Given the description of an element on the screen output the (x, y) to click on. 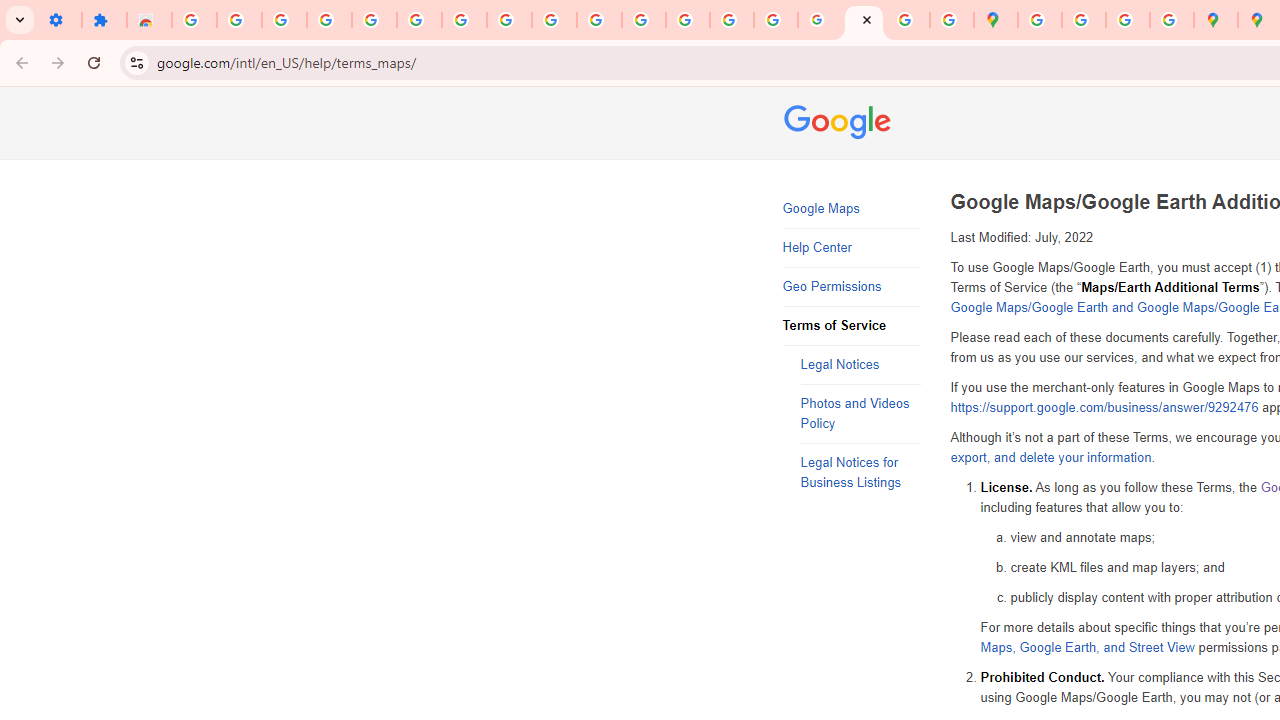
Sign in - Google Accounts (194, 20)
Terms of Service (851, 326)
YouTube (554, 20)
https://scholar.google.com/ (643, 20)
Photos and Videos Policy (860, 414)
Sign in - Google Accounts (418, 20)
